Given the description of an element on the screen output the (x, y) to click on. 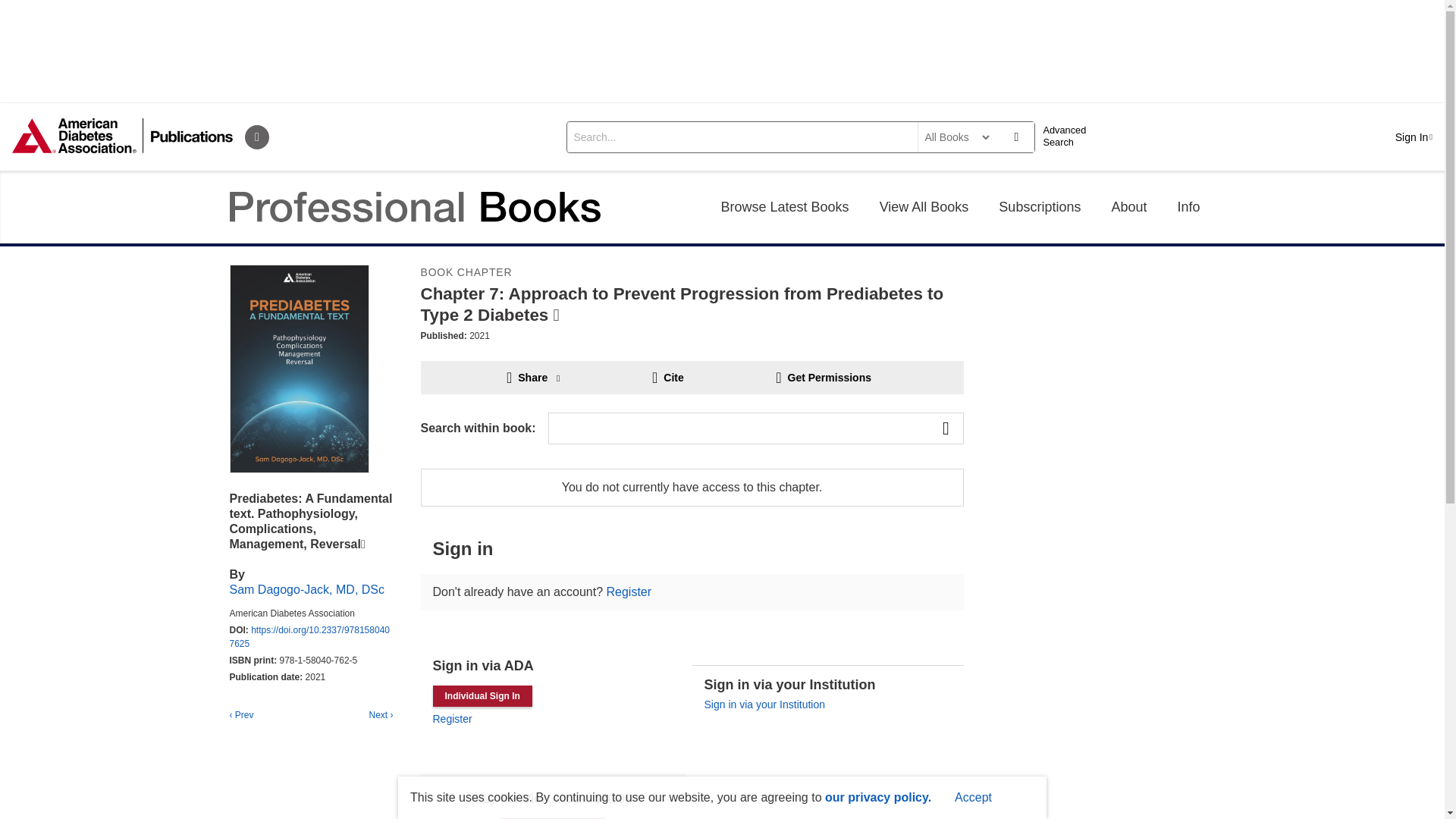
Advanced Search (1069, 136)
About (1128, 206)
Sam Dagogo-Jack, MD, DSc (306, 589)
search input (740, 136)
Sign In (1413, 136)
Info (1187, 206)
View All Books (924, 206)
Subscriptions (1040, 206)
Browse Latest Books (785, 206)
